Given the description of an element on the screen output the (x, y) to click on. 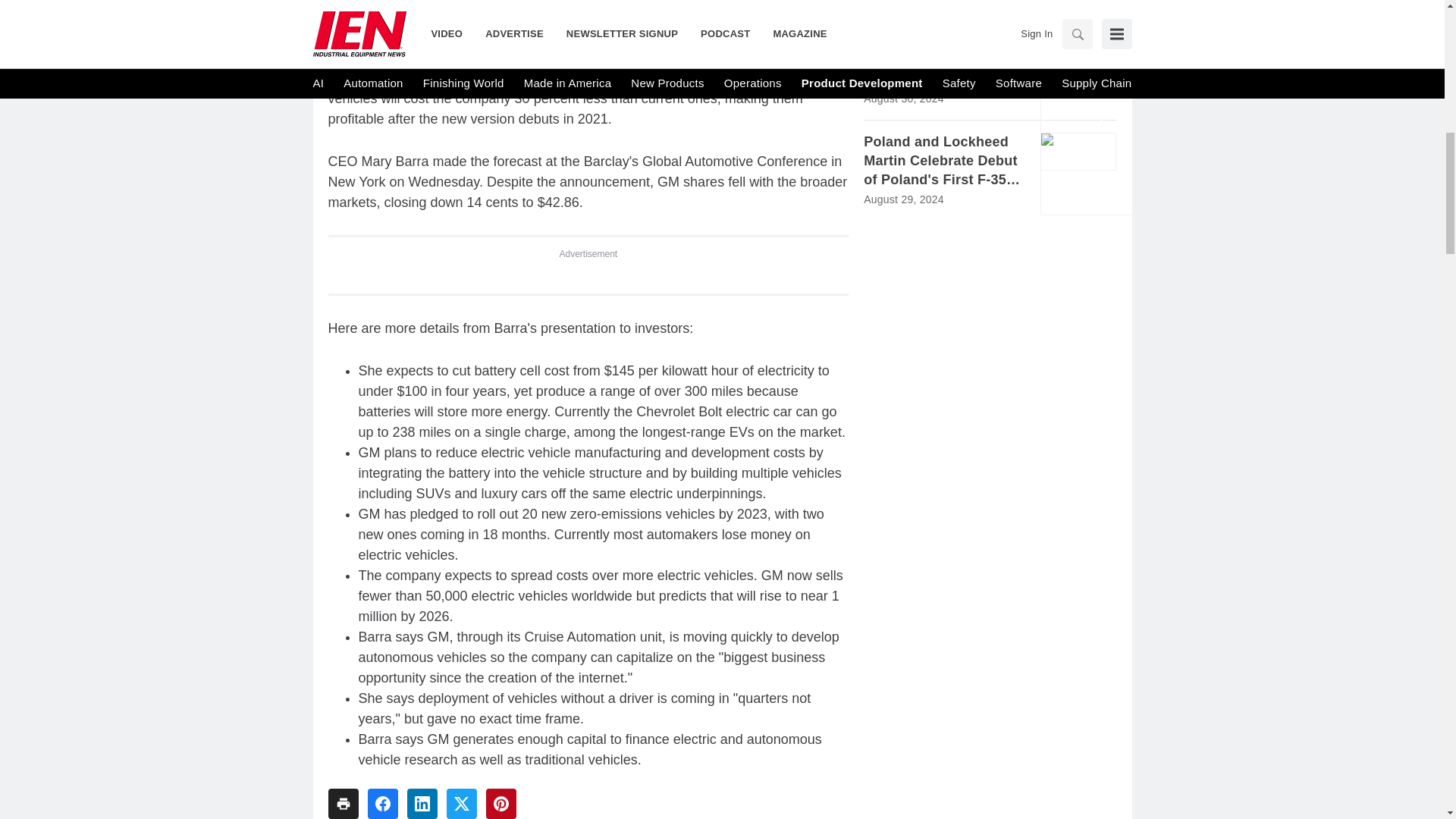
Share To linkedin (421, 803)
Share To facebook (381, 803)
Share To pinterest (499, 803)
Share To twitter (460, 803)
Share To print (342, 803)
